Given the description of an element on the screen output the (x, y) to click on. 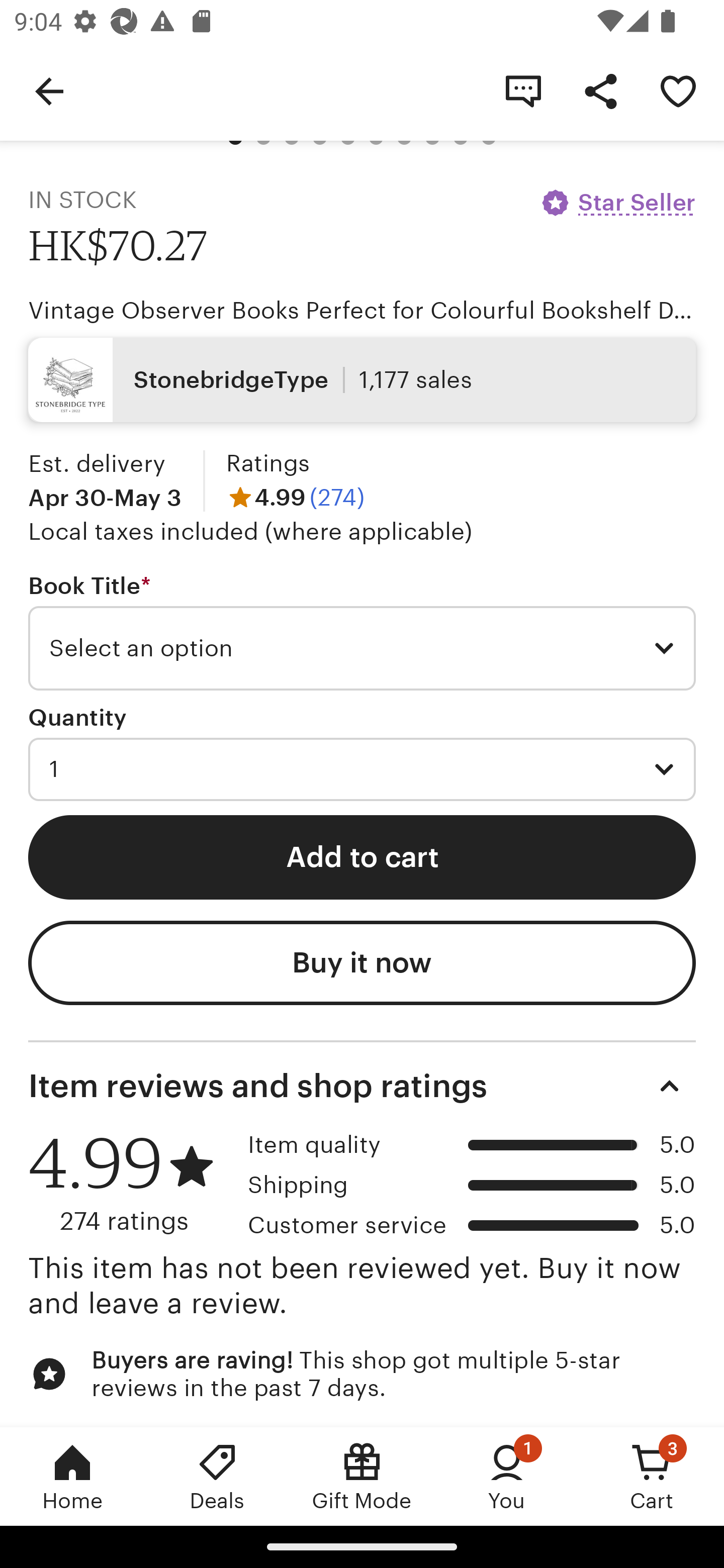
Navigate up (49, 90)
Contact shop (523, 90)
Share (600, 90)
Star Seller (617, 201)
StonebridgeType 1,177 sales (361, 379)
Ratings (267, 463)
4.99 (274) (294, 496)
Book Title * Required Select an option (361, 630)
Select an option (361, 647)
Quantity (77, 717)
1 (361, 769)
Add to cart (361, 857)
Buy it now (361, 962)
Item reviews and shop ratings (362, 1085)
4.99 274 ratings (130, 1183)
Deals (216, 1475)
Gift Mode (361, 1475)
You, 1 new notification You (506, 1475)
Cart, 3 new notifications Cart (651, 1475)
